Given the description of an element on the screen output the (x, y) to click on. 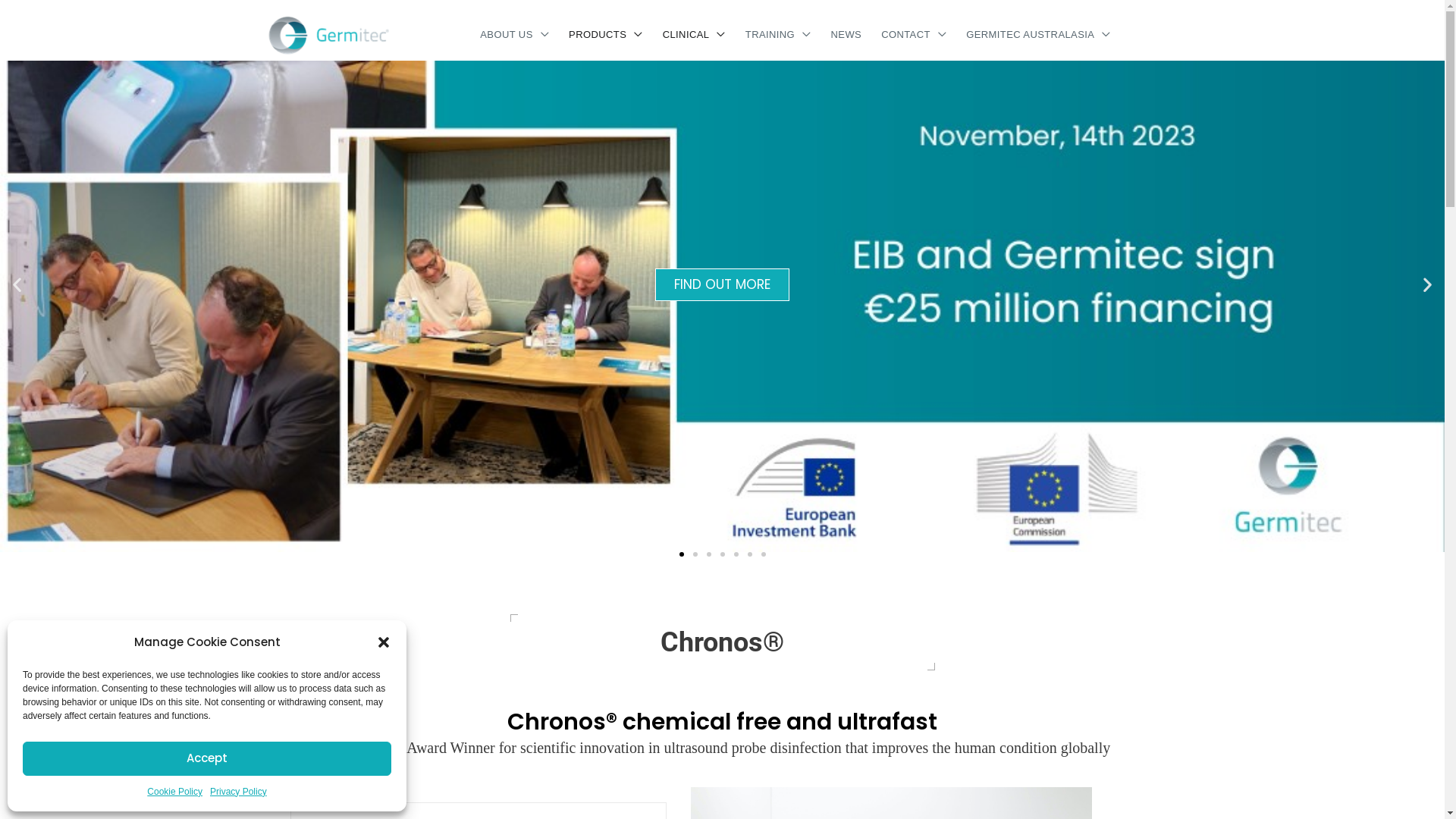
CONTACT Element type: text (913, 34)
FIND OUT MORE Element type: text (722, 284)
PRODUCTS Element type: text (605, 34)
GERMITEC AUSTRALASIA Element type: text (1038, 34)
Cookie Policy Element type: text (174, 791)
Privacy Policy Element type: text (238, 791)
CLINICAL Element type: text (693, 34)
TRAINING Element type: text (778, 34)
NEWS Element type: text (846, 34)
Accept Element type: text (206, 758)
ABOUT US Element type: text (514, 34)
